Given the description of an element on the screen output the (x, y) to click on. 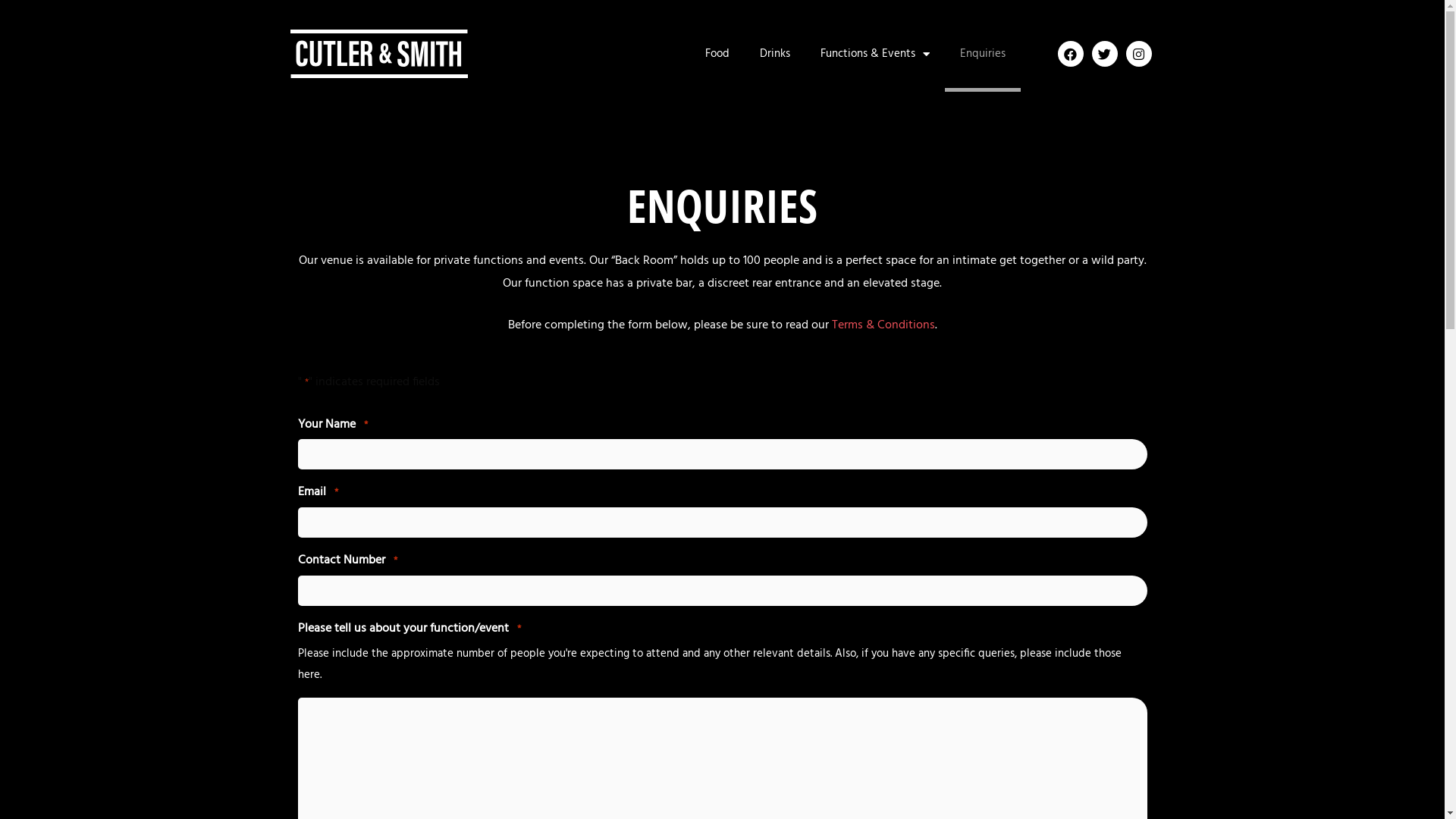
Functions & Events Element type: text (874, 53)
Instagram Element type: text (1138, 53)
Food Element type: text (717, 53)
Terms & Conditions Element type: text (882, 325)
Drinks Element type: text (774, 53)
Twitter Element type: text (1104, 53)
Enquiries Element type: text (982, 53)
Submit Element type: text (41, 16)
Facebook Element type: text (1070, 53)
